Given the description of an element on the screen output the (x, y) to click on. 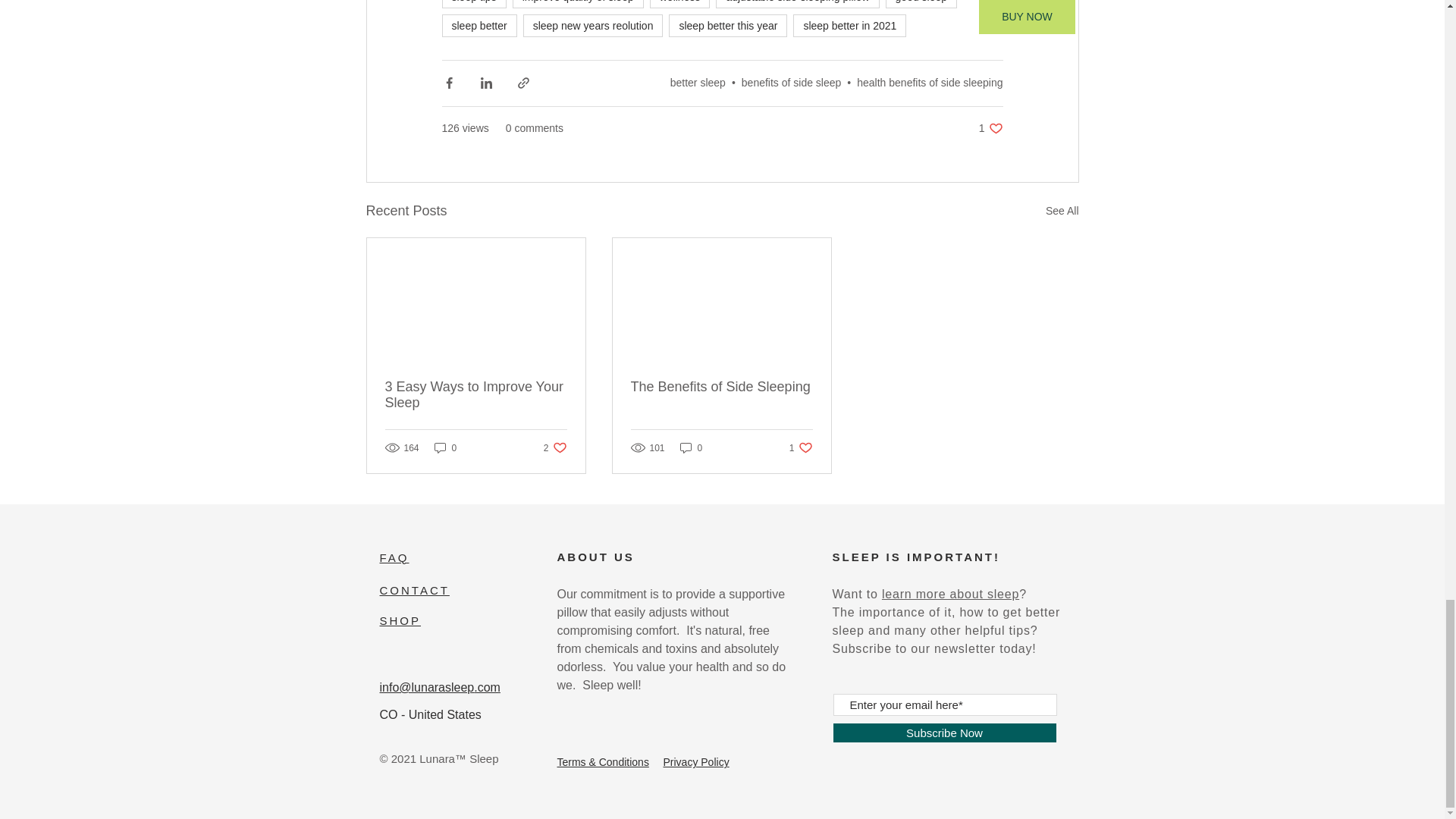
adjustable side-sleeping pillow (797, 4)
sleep tips (473, 4)
wellness (679, 4)
improve qualtiy of sleep (577, 4)
